Given the description of an element on the screen output the (x, y) to click on. 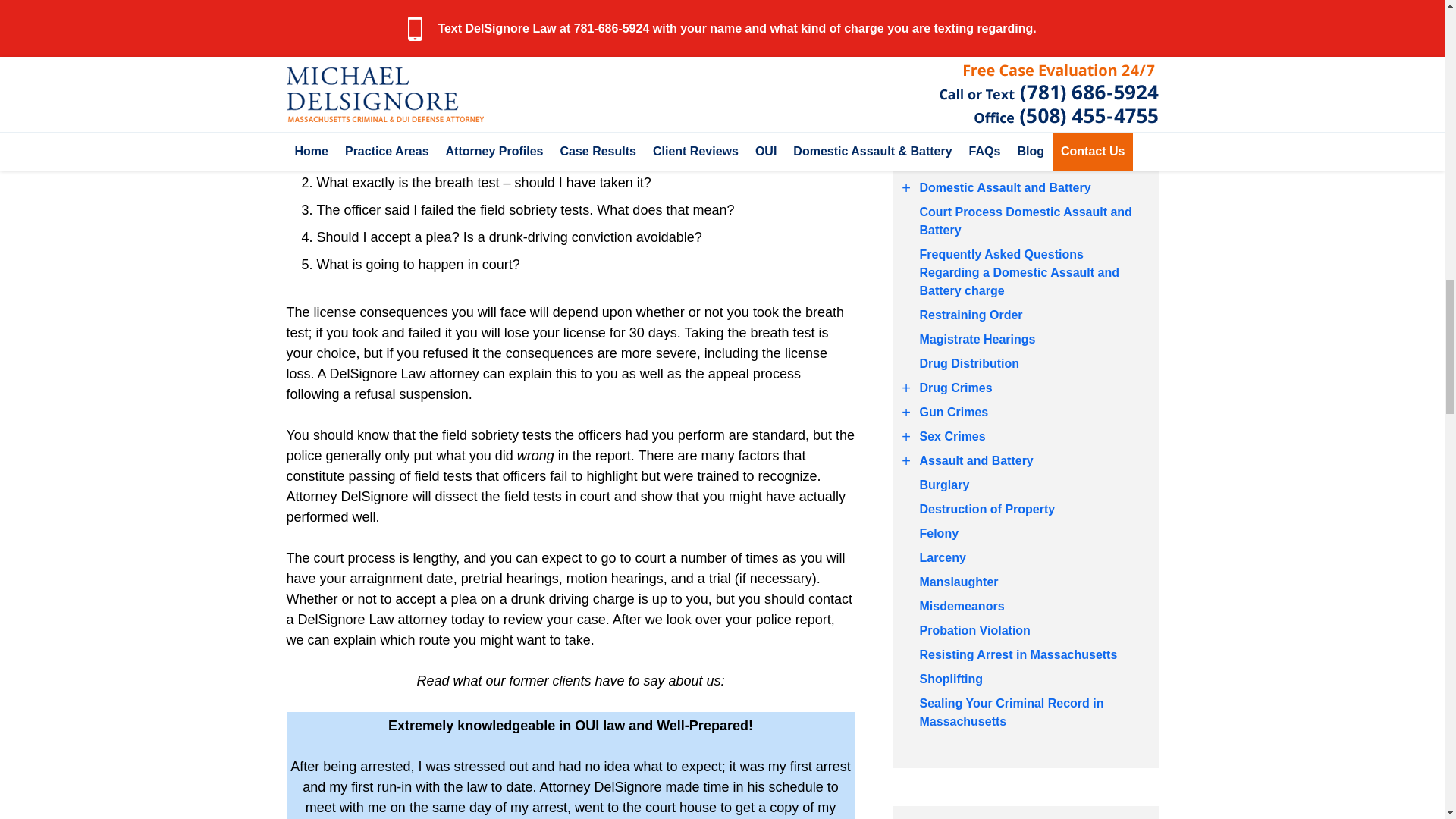
See More (906, 15)
See More (906, 436)
See More (906, 388)
See More (906, 188)
See More (906, 460)
See More (906, 412)
